Given the description of an element on the screen output the (x, y) to click on. 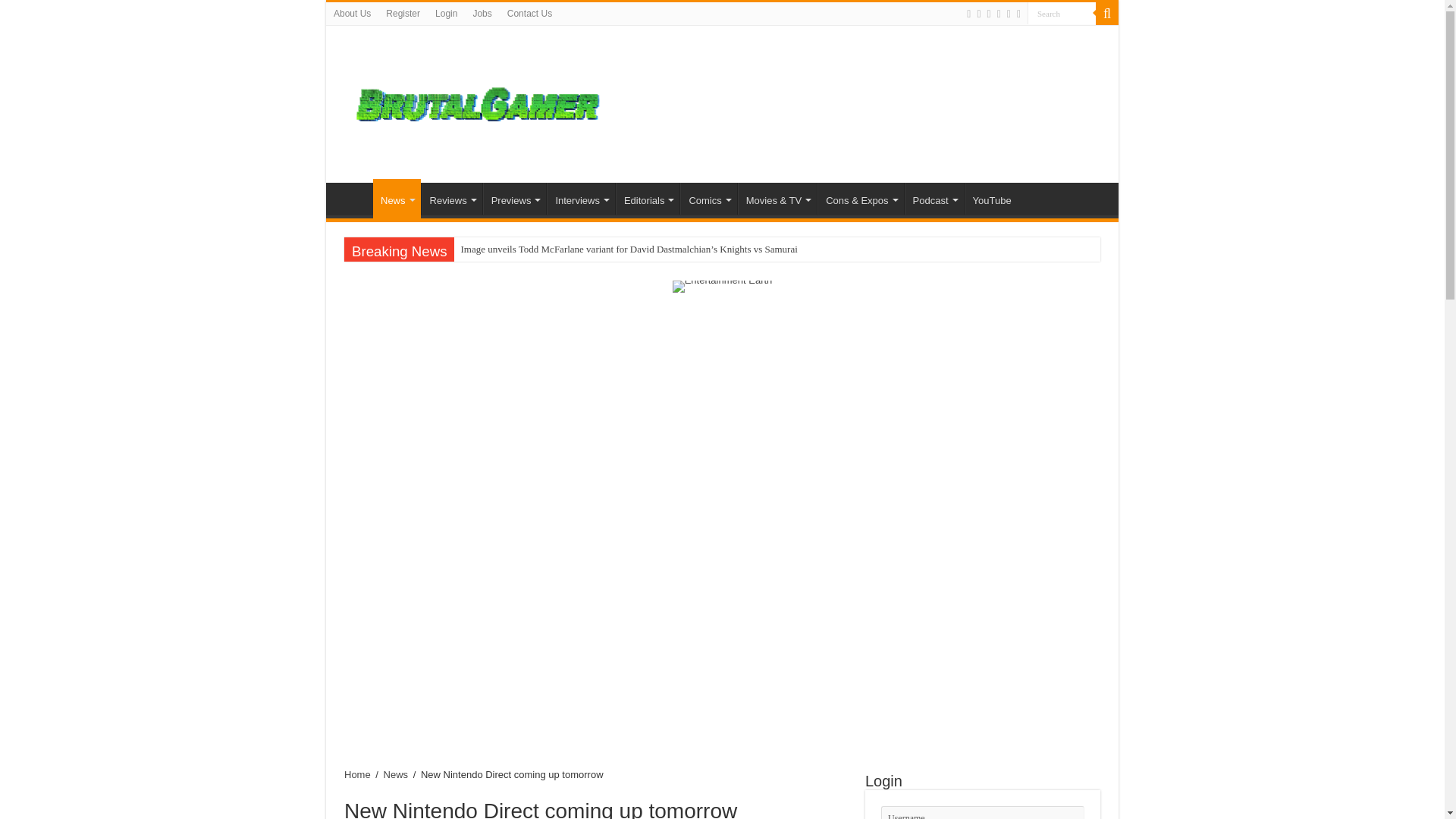
Reviews (451, 198)
Search (1061, 13)
Home (352, 198)
Search (1061, 13)
Jobs (481, 13)
BrutalGamer (477, 101)
News (396, 198)
Username (982, 812)
Login (446, 13)
Register (403, 13)
